Given the description of an element on the screen output the (x, y) to click on. 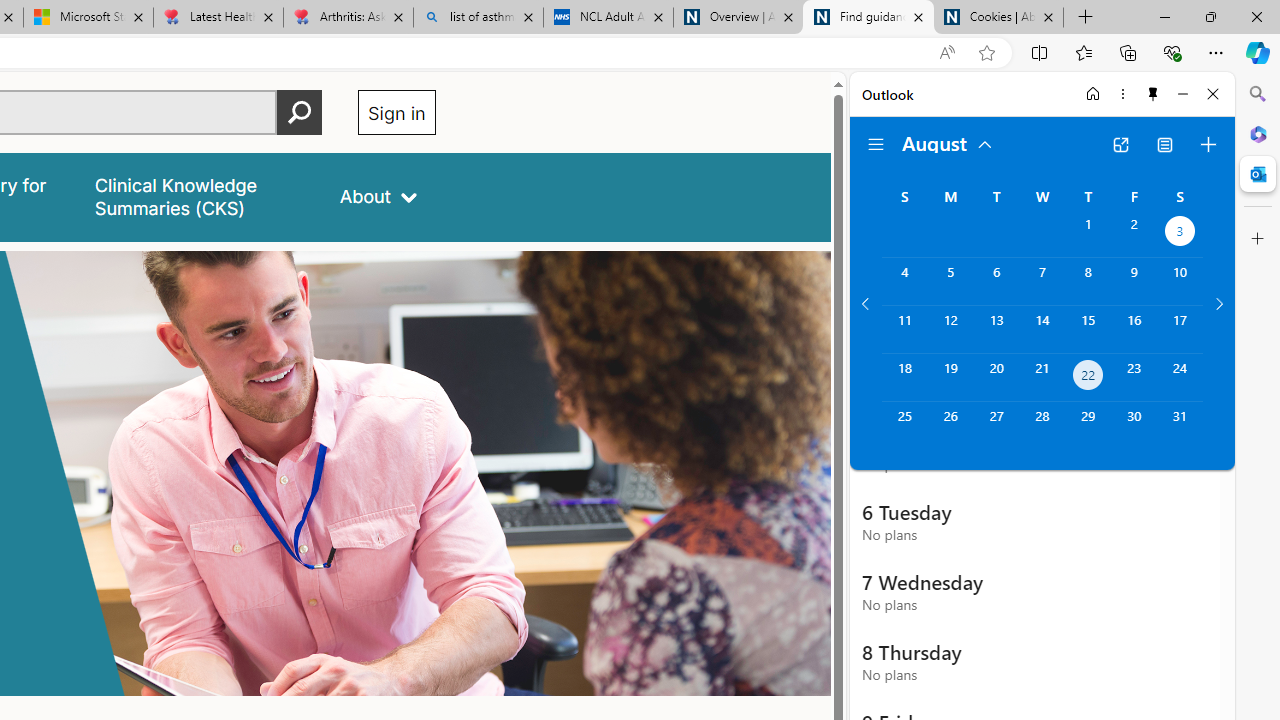
Saturday, August 3, 2024. Date selected.  (1180, 233)
Close Outlook pane (1258, 174)
Read aloud this page (Ctrl+Shift+U) (946, 53)
Friday, August 16, 2024.  (1134, 329)
Microsoft 365 (1258, 133)
Thursday, August 8, 2024.  (1088, 281)
Split screen (1039, 52)
Friday, August 2, 2024.  (1134, 233)
false (198, 196)
NCL Adult Asthma Inhaler Choice Guideline (608, 17)
Unpin side pane (1153, 93)
Folder navigation (876, 144)
Saturday, August 17, 2024.  (1180, 329)
